Given the description of an element on the screen output the (x, y) to click on. 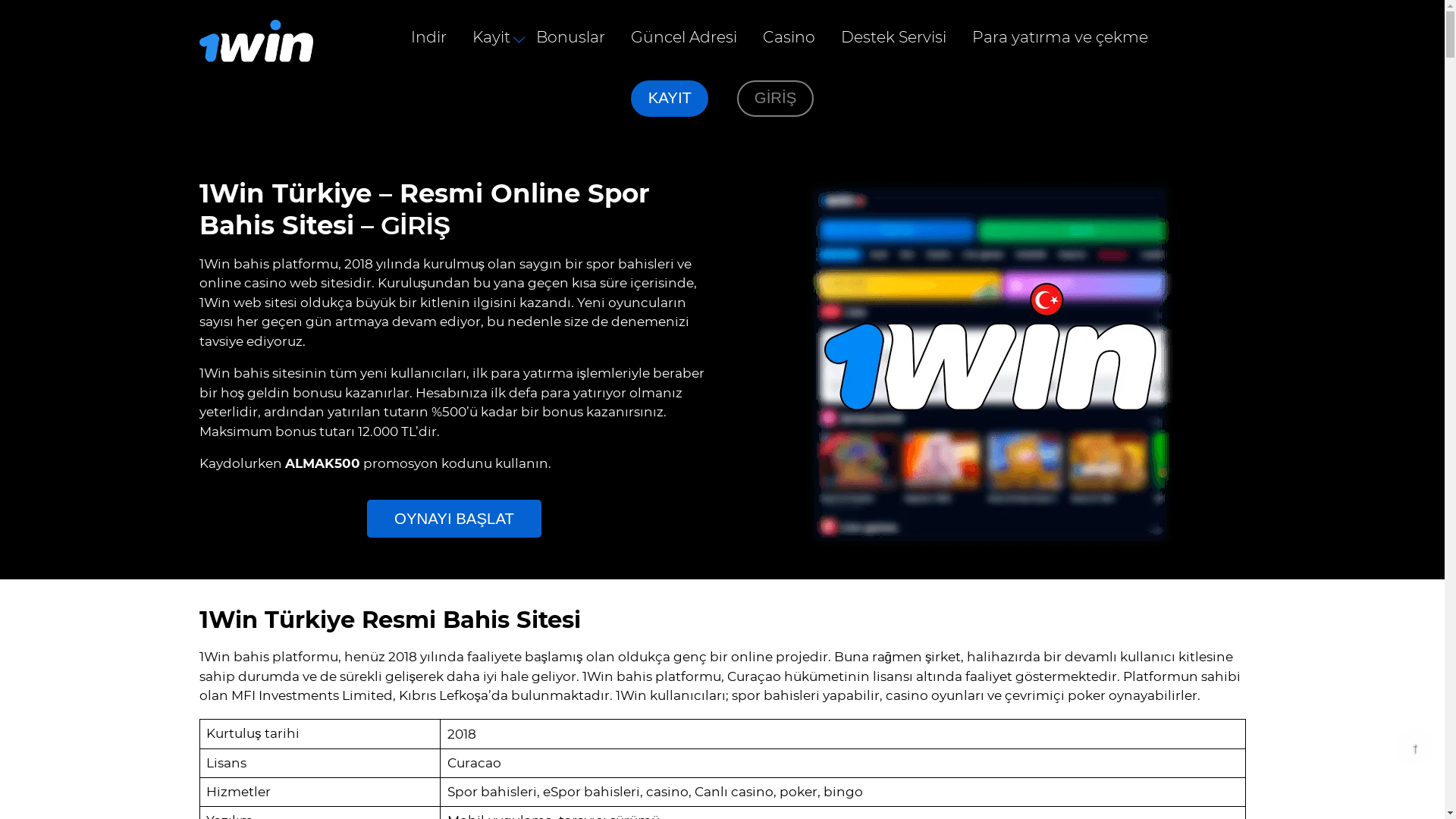
Destek Servisi Element type: text (893, 37)
Indir Element type: text (428, 37)
KAYIT Element type: text (669, 98)
Casino Element type: text (788, 37)
Kayit Element type: text (490, 37)
Bonuslar Element type: text (570, 37)
